Given the description of an element on the screen output the (x, y) to click on. 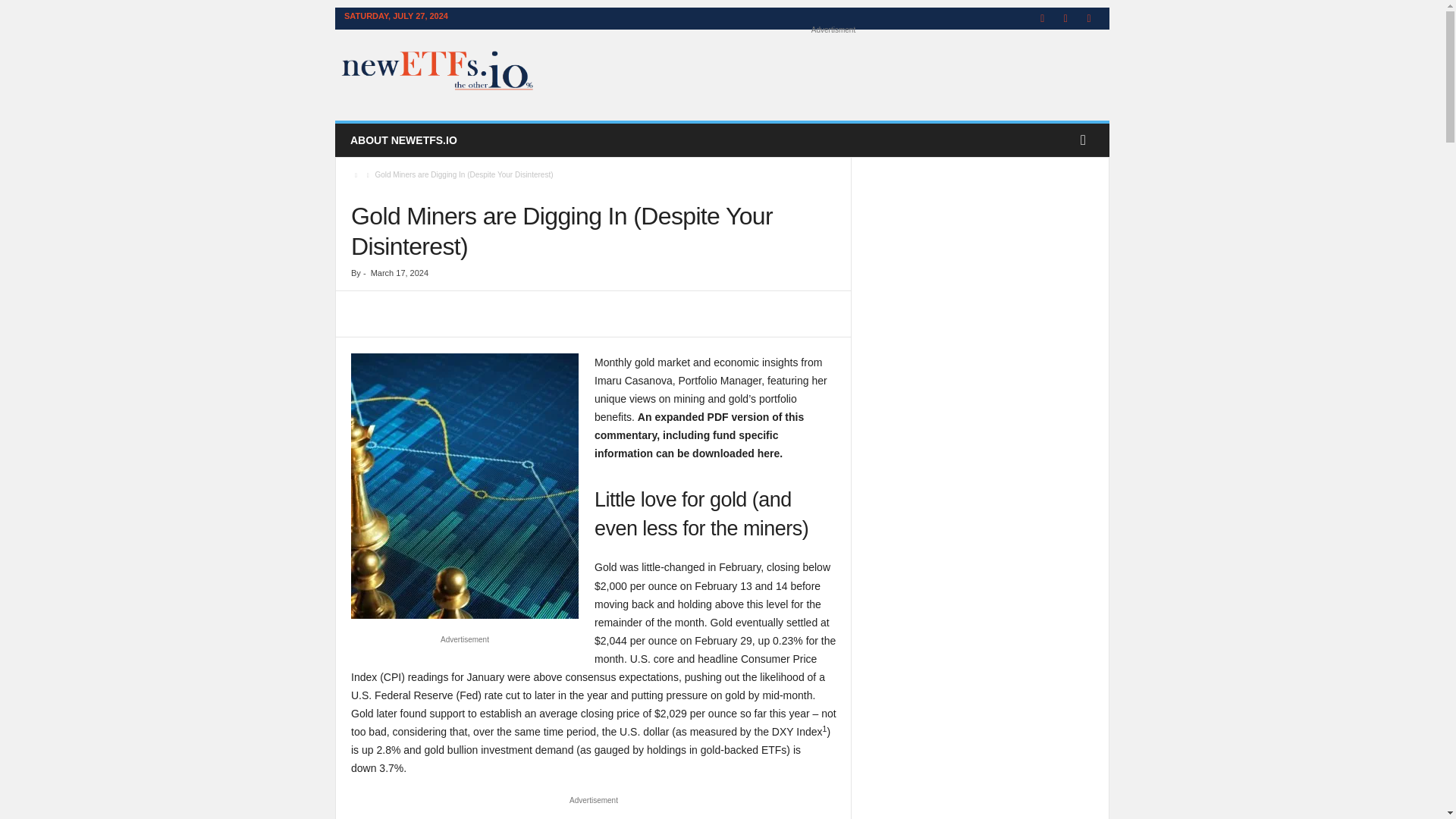
NewETFs.io (437, 70)
Linkedin (1065, 18)
Facebook (1042, 18)
newETFs.io (437, 70)
ABOUT NEWETFS.IO (403, 140)
Twitter (1088, 18)
